Given the description of an element on the screen output the (x, y) to click on. 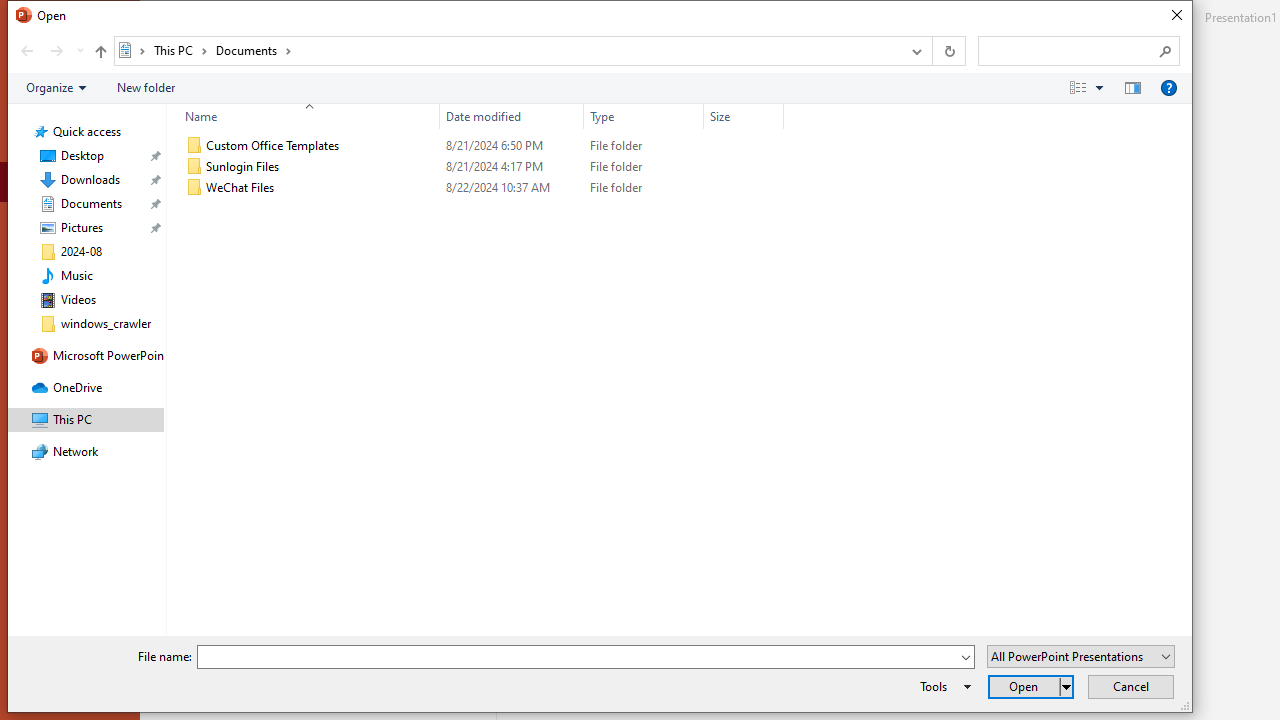
Up to "This PC" (Alt + Up Arrow) (100, 52)
Size (743, 115)
Tools (942, 686)
Forward (Alt + Right Arrow) (56, 51)
Preview pane (1132, 87)
View Slider (1099, 87)
Search Box (1069, 50)
Sunlogin Files (480, 166)
Class: UIImage (194, 187)
Date modified (511, 187)
Date modified (511, 115)
Address: Documents (506, 51)
Address band toolbar (931, 51)
